Given the description of an element on the screen output the (x, y) to click on. 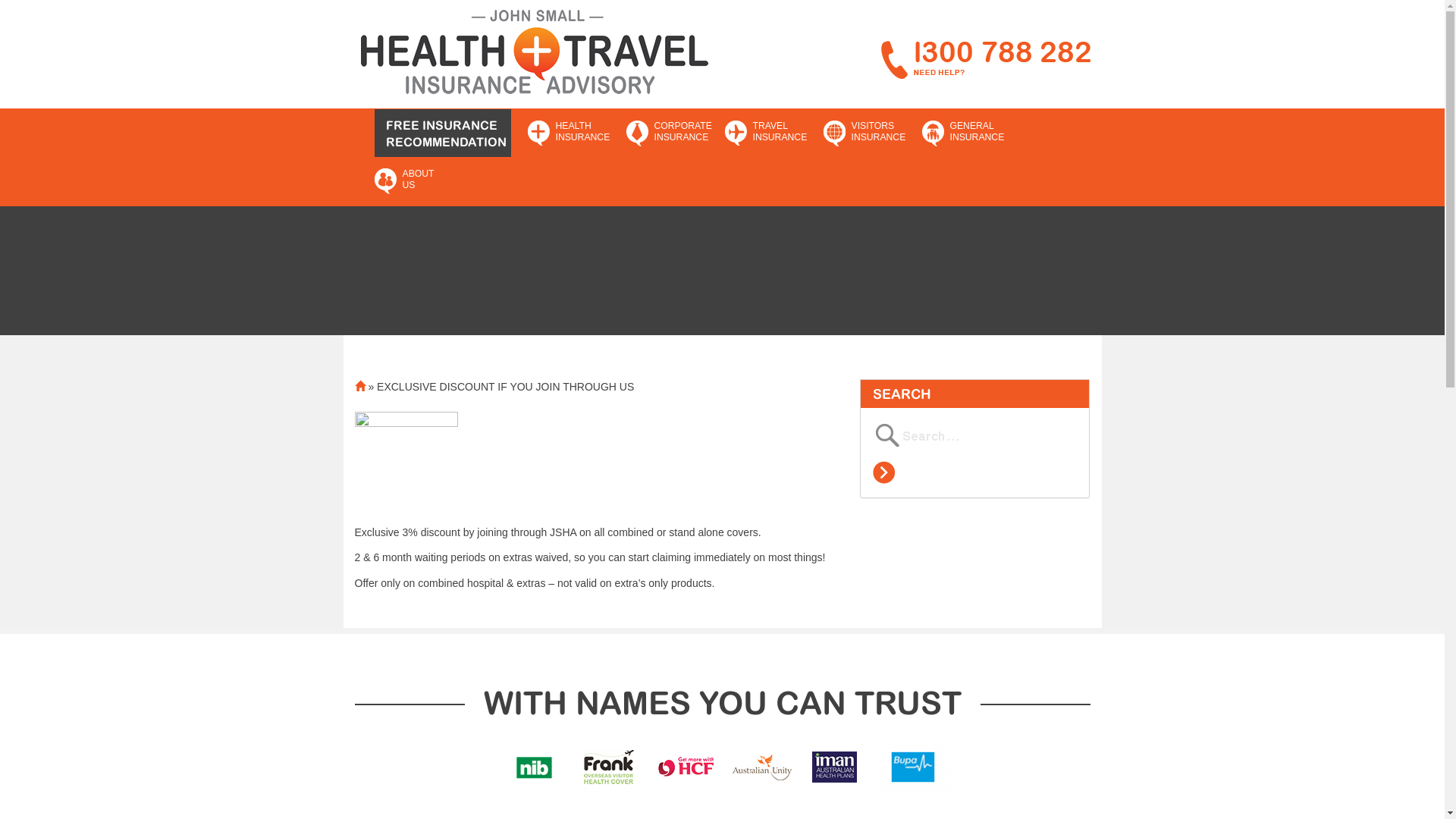
FREE INSURANCE RECOMMENDATION Element type: text (442, 132)
HEALTH INSURANCE Element type: text (569, 132)
CORPORATE
INSURANCE Element type: text (667, 132)
VISITORS INSURANCE Element type: text (864, 132)
GENERAL
INSURANCE Element type: text (963, 132)
TRAVEL INSURANCE Element type: text (766, 132)
ABOUT
US Element type: text (416, 180)
